Given the description of an element on the screen output the (x, y) to click on. 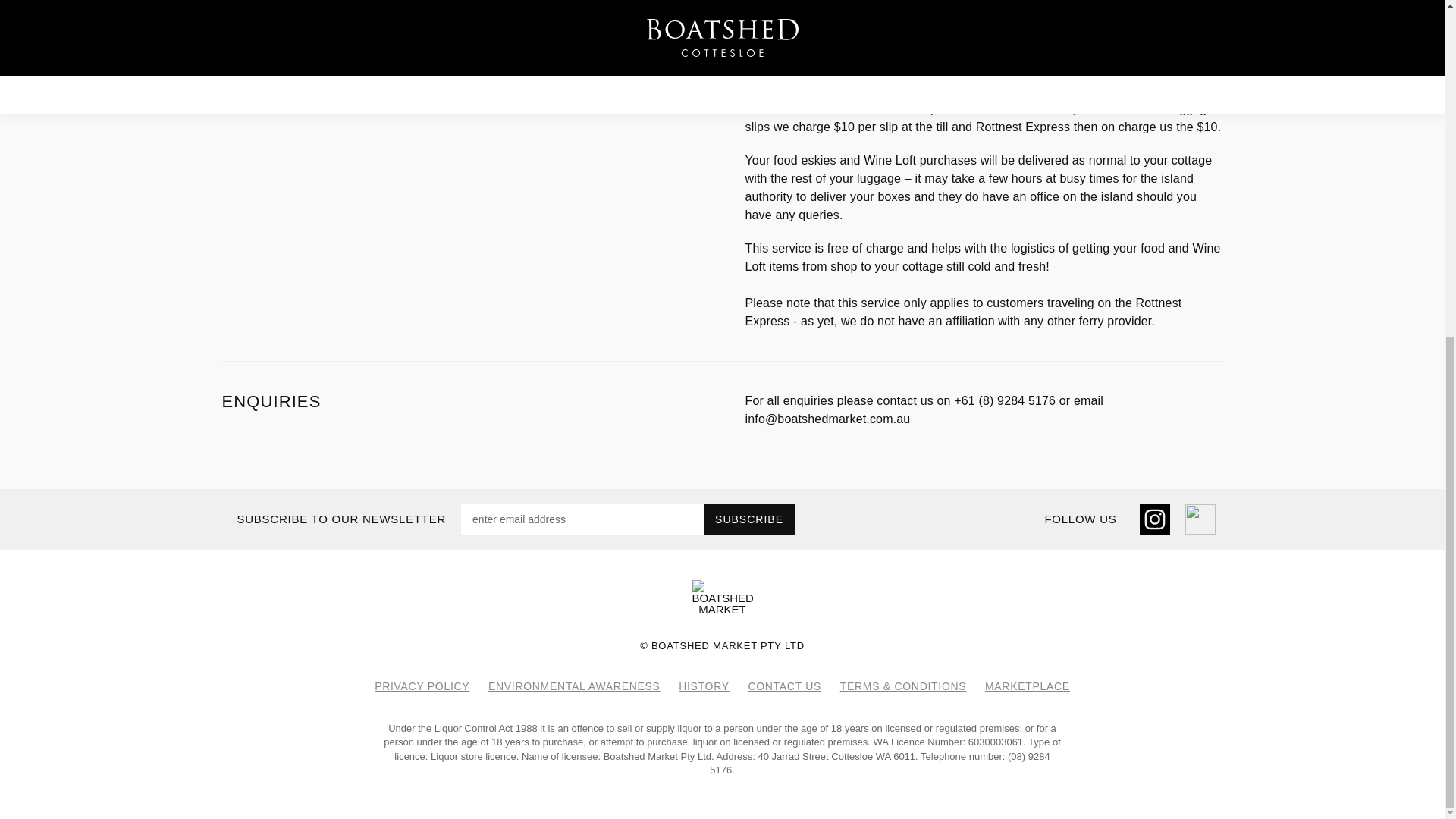
ENVIRONMENTAL AWARENESS (574, 686)
HISTORY (703, 686)
MARKETPLACE (1027, 686)
CONTACT US (784, 686)
SUBSCRIBE (748, 519)
PRIVACY POLICY (421, 686)
